Given the description of an element on the screen output the (x, y) to click on. 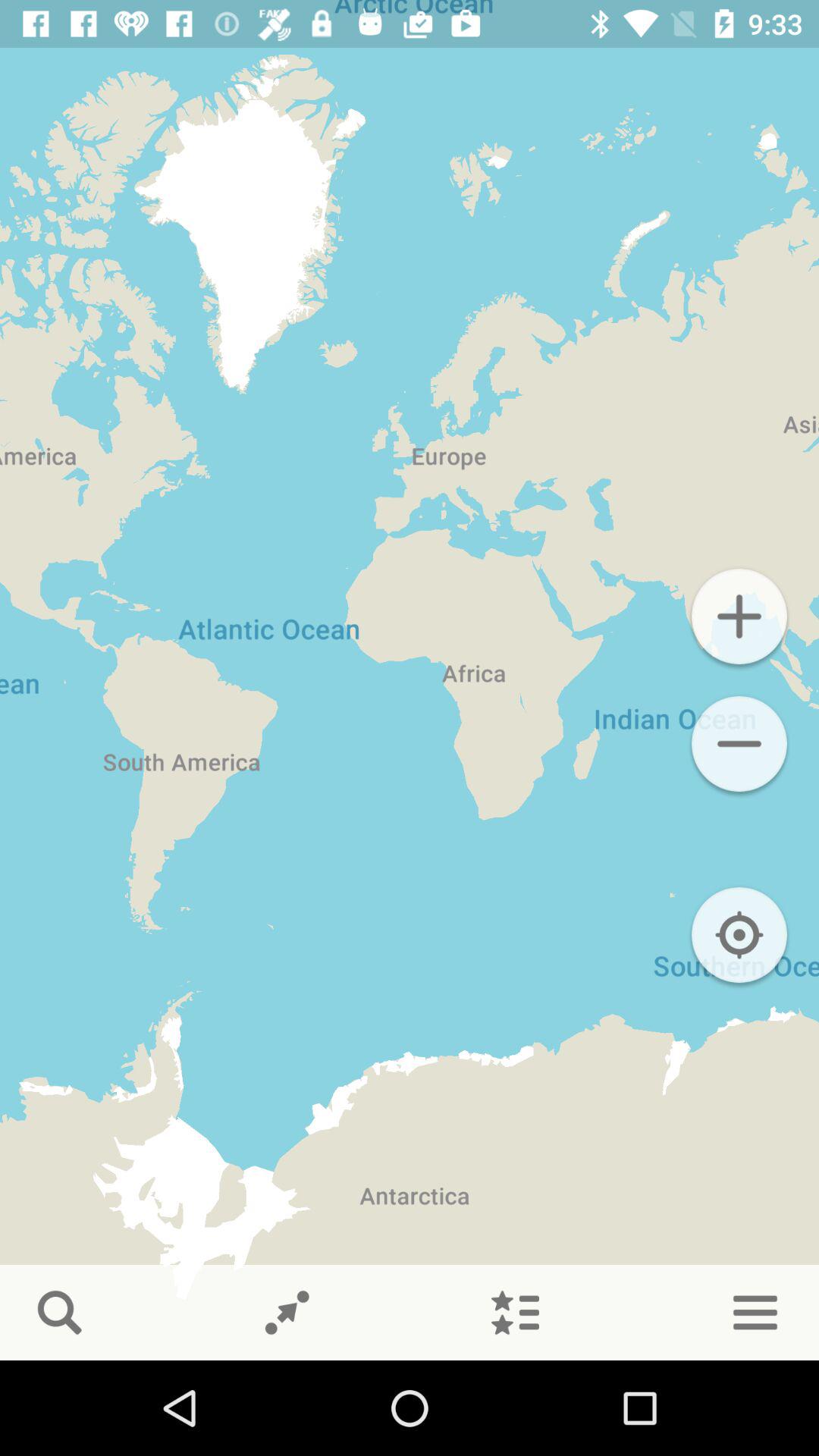
zoom out (739, 743)
